Given the description of an element on the screen output the (x, y) to click on. 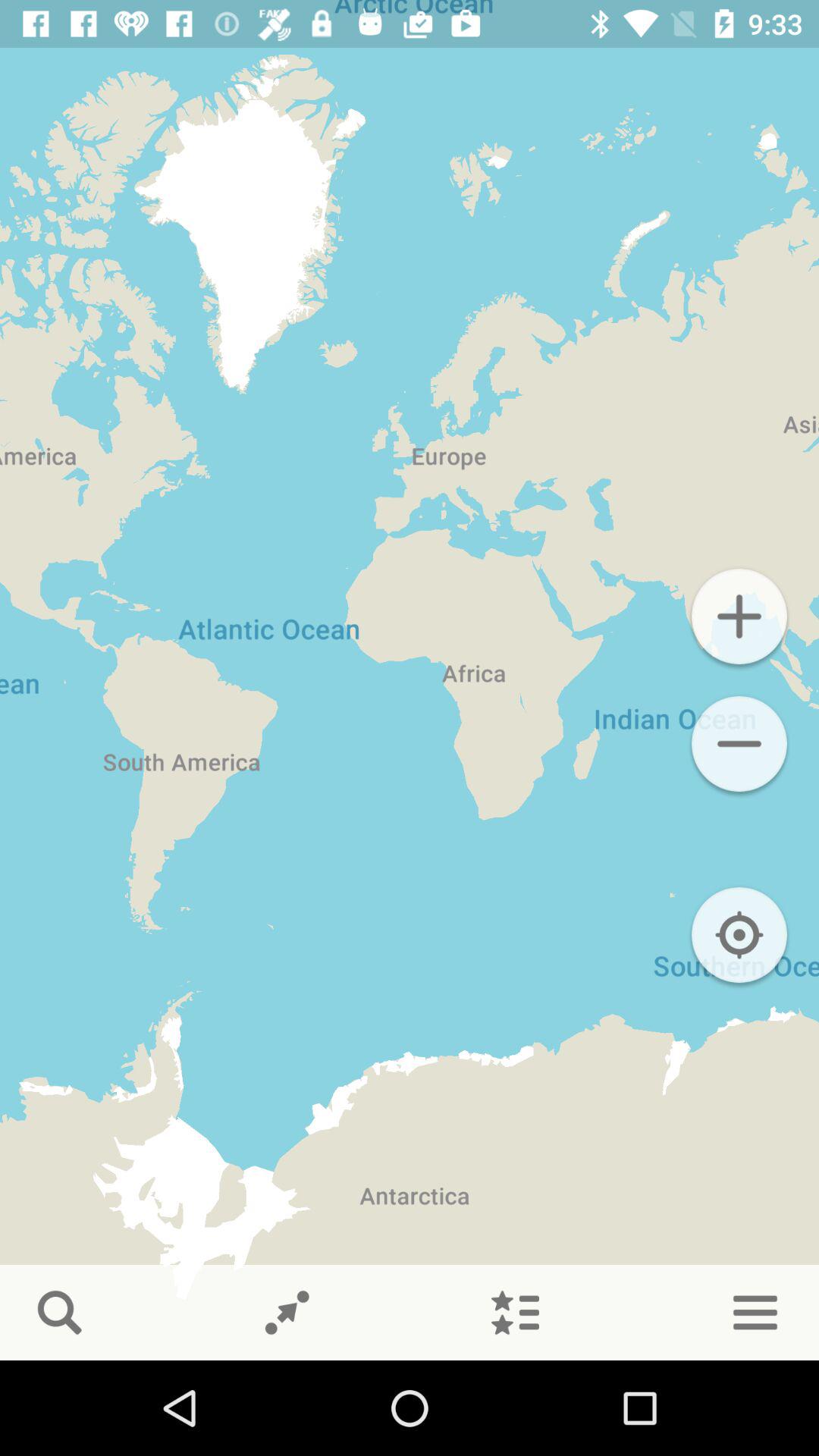
zoom out (739, 743)
